Given the description of an element on the screen output the (x, y) to click on. 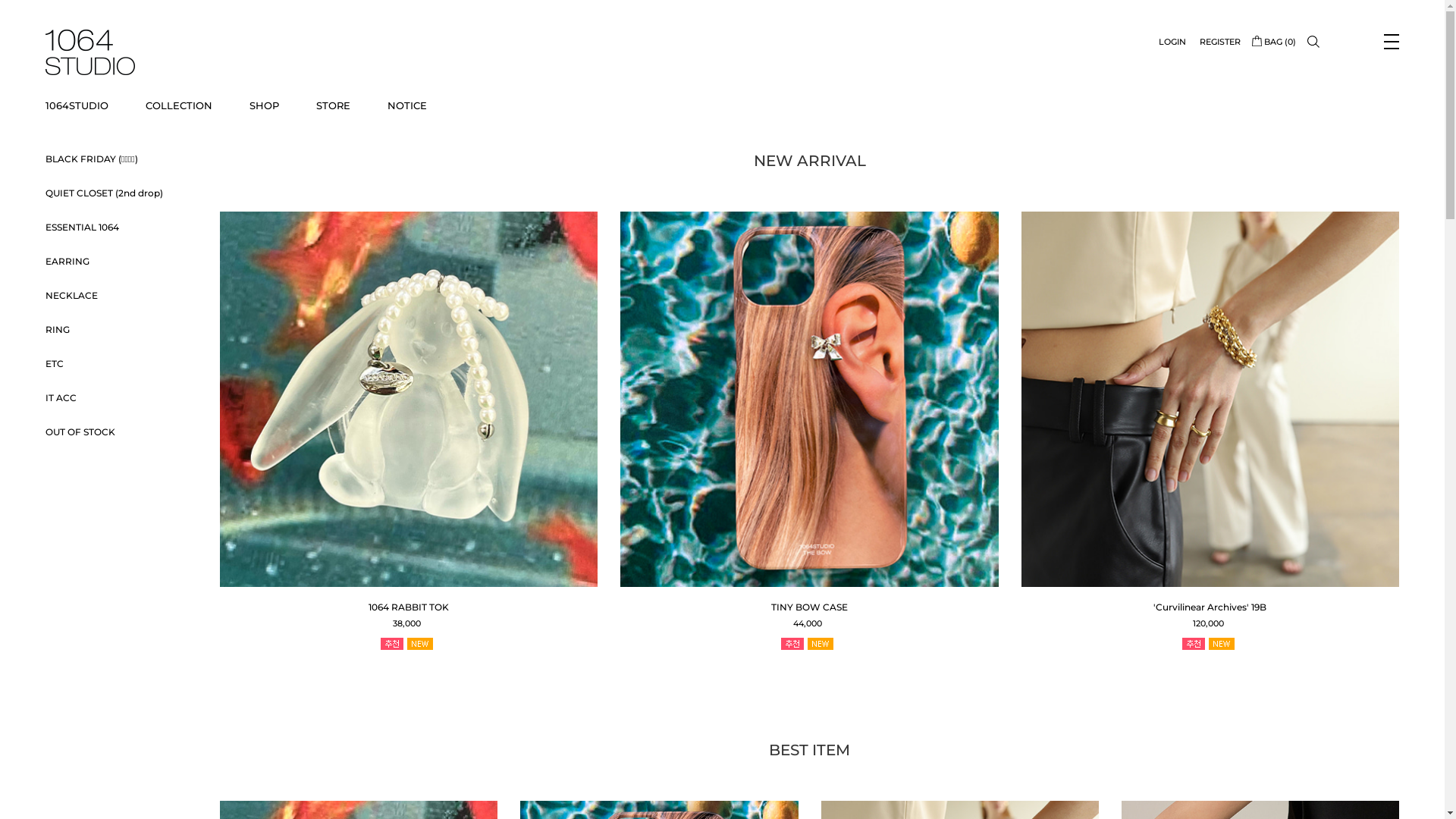
STORE Element type: text (333, 104)
1064 RABBIT TOK Element type: text (408, 606)
1064STUDIO Element type: text (76, 104)
NOTICE Element type: text (406, 104)
IT ACC Element type: text (60, 397)
REGISTER Element type: text (1219, 41)
EARRING Element type: text (67, 260)
QUIET CLOSET (2nd drop) Element type: text (104, 192)
OUT OF STOCK Element type: text (80, 431)
SHOP Element type: text (264, 104)
ETC Element type: text (54, 363)
ESSENTIAL 1064 Element type: text (82, 226)
'Curvilinear Archives' 19B Element type: text (1209, 606)
RING Element type: text (57, 329)
BAG (0) Element type: text (1273, 41)
NECKLACE Element type: text (71, 295)
COLLECTION Element type: text (178, 104)
TINY BOW CASE Element type: text (809, 606)
